Given the description of an element on the screen output the (x, y) to click on. 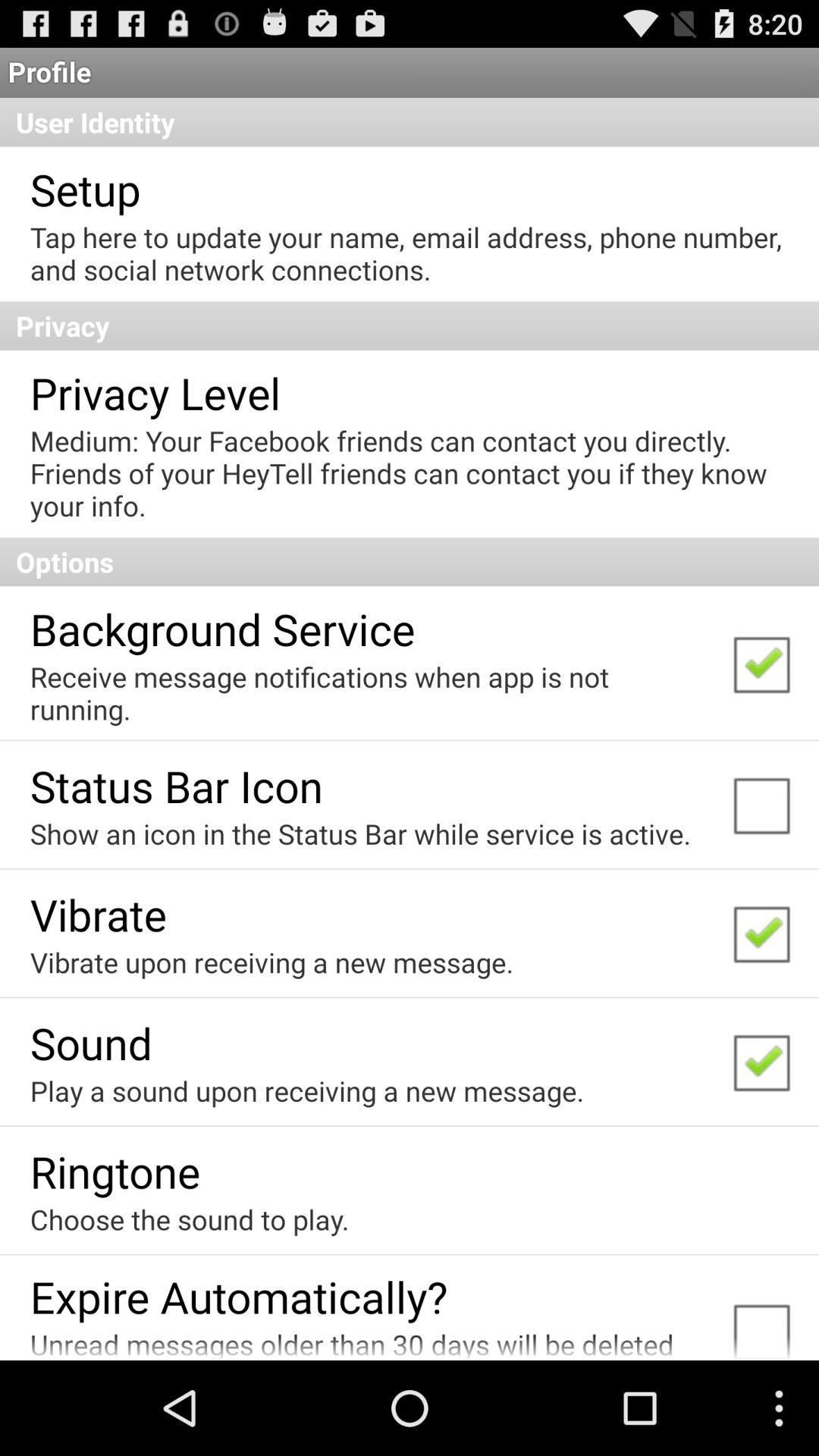
tap app above the receive message notifications app (222, 628)
